Given the description of an element on the screen output the (x, y) to click on. 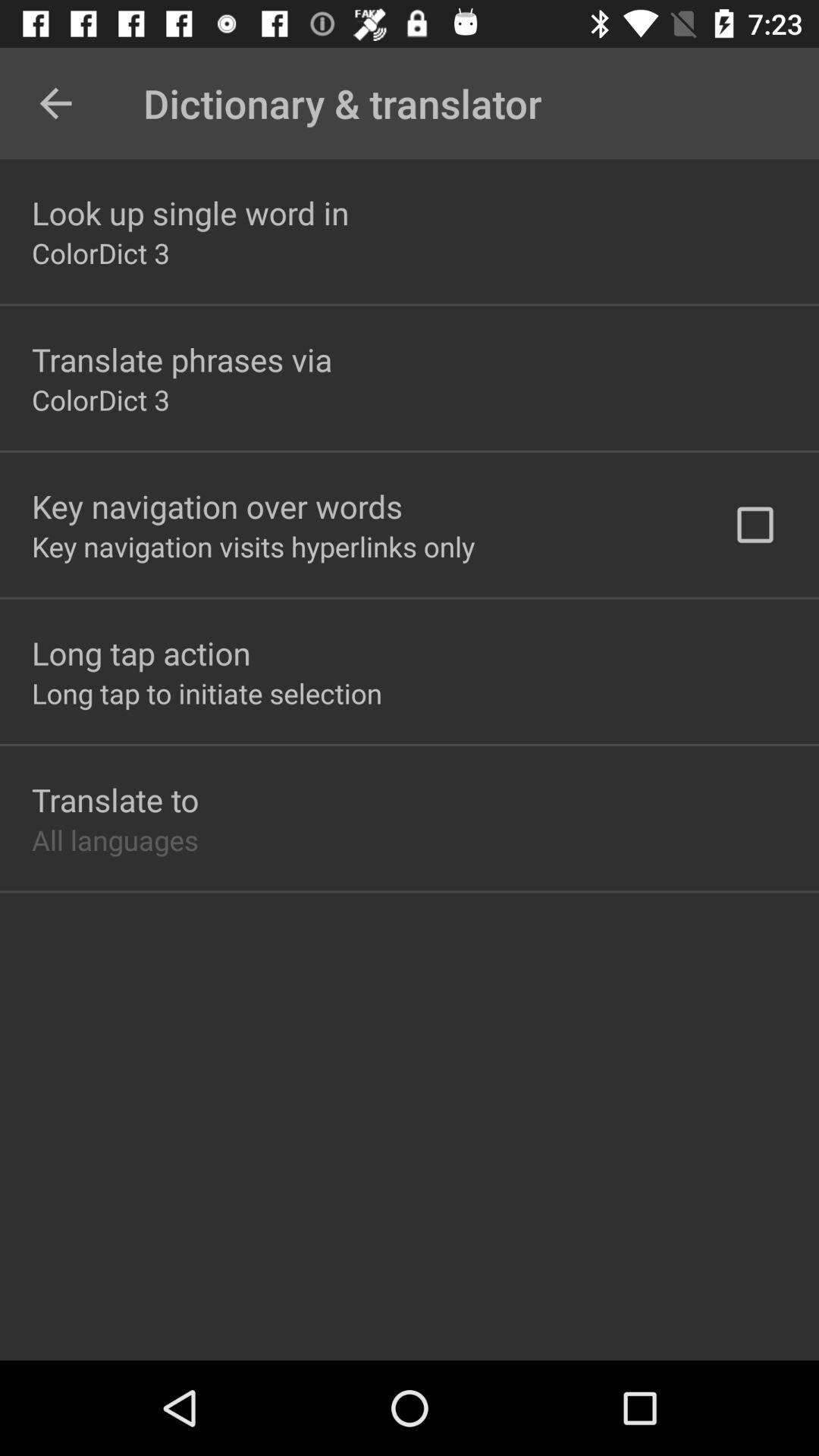
press the item below the long tap to (115, 799)
